Given the description of an element on the screen output the (x, y) to click on. 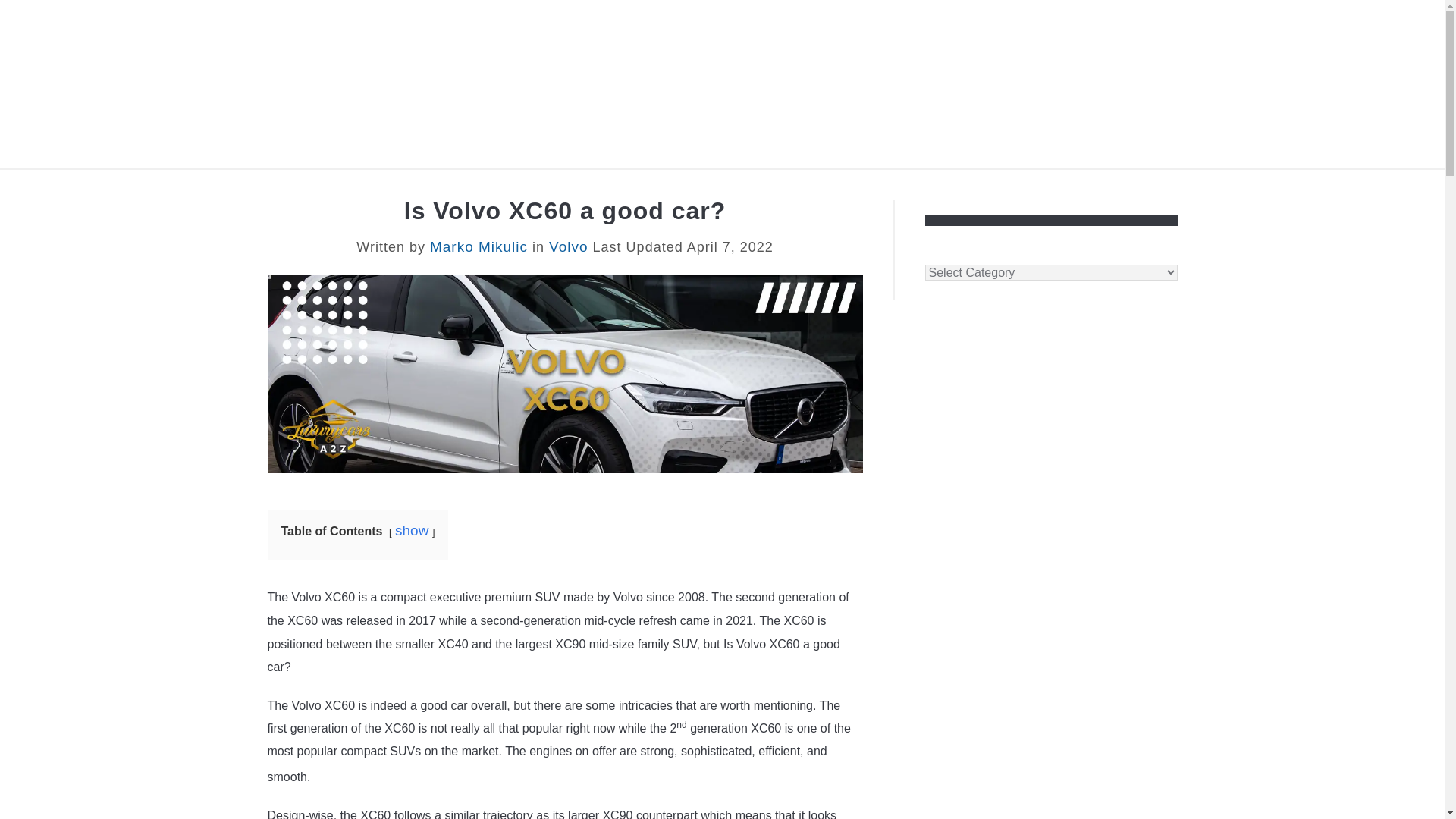
show (411, 530)
Search (1172, 83)
LUXURY CARS (327, 186)
FLIPPING CARS FOR PROFIT (503, 186)
Marko Mikulic (478, 246)
CAR ECONOMY (1112, 186)
Volvo (568, 246)
